Given the description of an element on the screen output the (x, y) to click on. 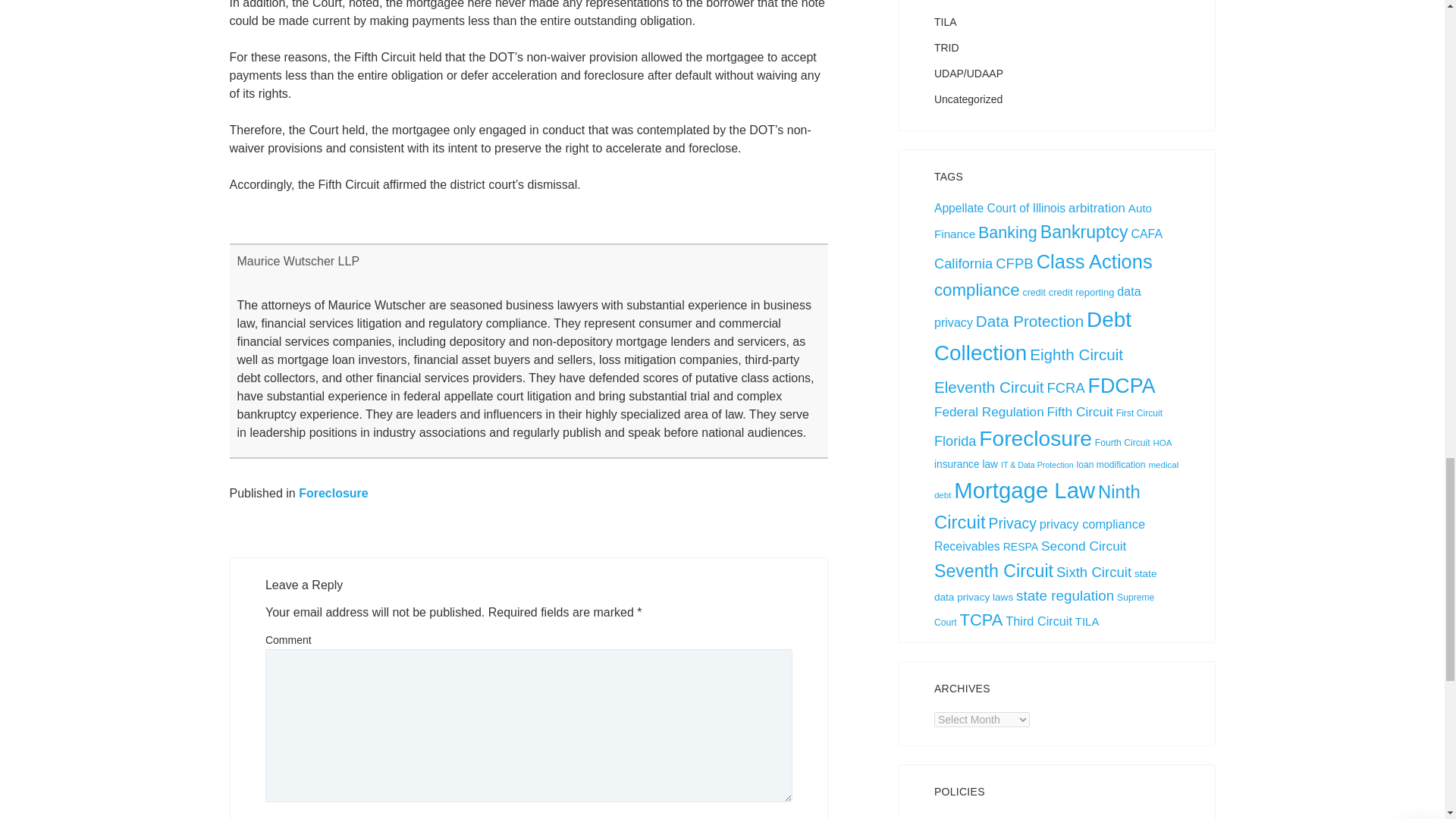
View all posts in Foreclosure (333, 492)
All posts by Maurice Wutscher LLP (297, 260)
Maurice Wutscher LLP (297, 260)
Foreclosure (333, 492)
